Given the description of an element on the screen output the (x, y) to click on. 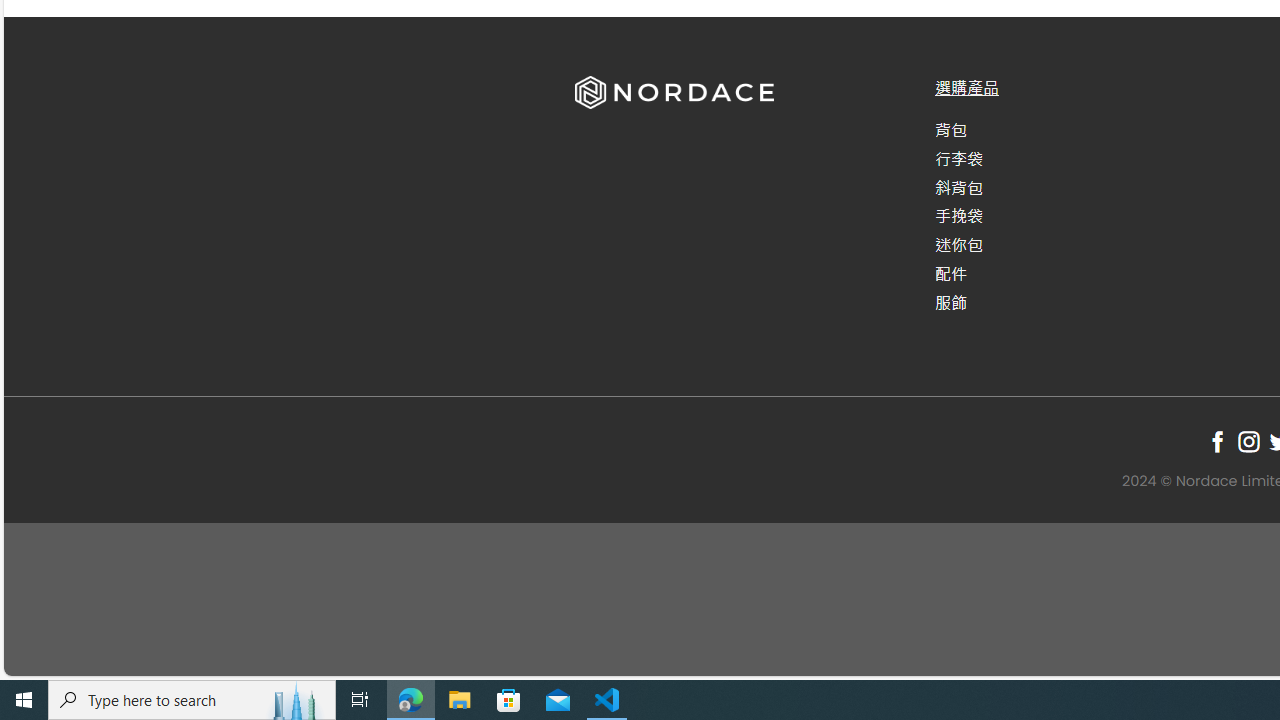
Follow on Facebook (1217, 441)
Follow on Instagram (1248, 441)
